Given the description of an element on the screen output the (x, y) to click on. 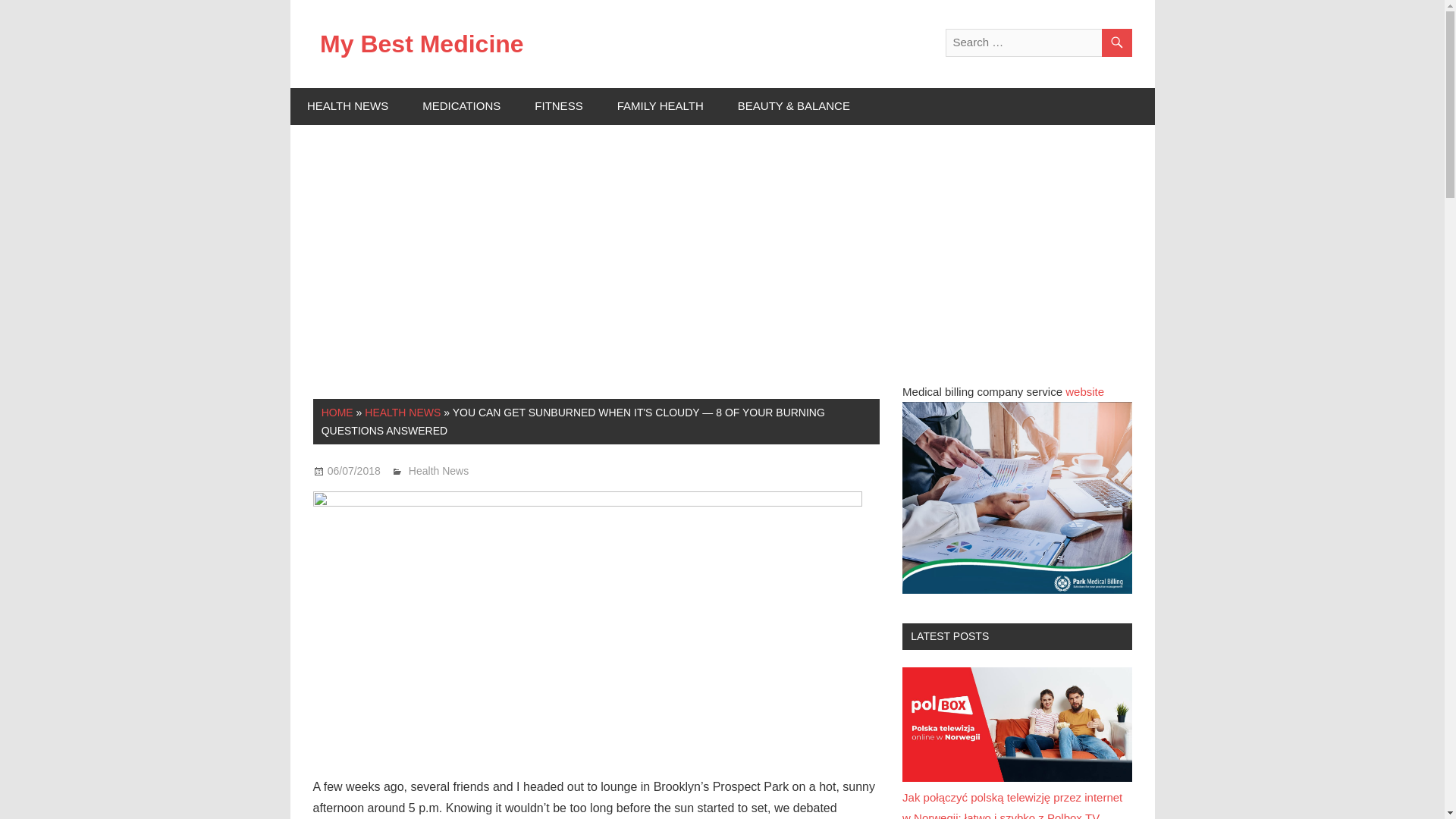
website (1084, 391)
FITNESS (558, 106)
Health News (438, 470)
My Best Medicine (422, 43)
HEALTH NEWS (403, 412)
HEALTH NEWS (346, 106)
MEDICATIONS (462, 106)
HOME (337, 412)
Search for: (1037, 42)
FAMILY HEALTH (659, 106)
03:52 (353, 470)
